Given the description of an element on the screen output the (x, y) to click on. 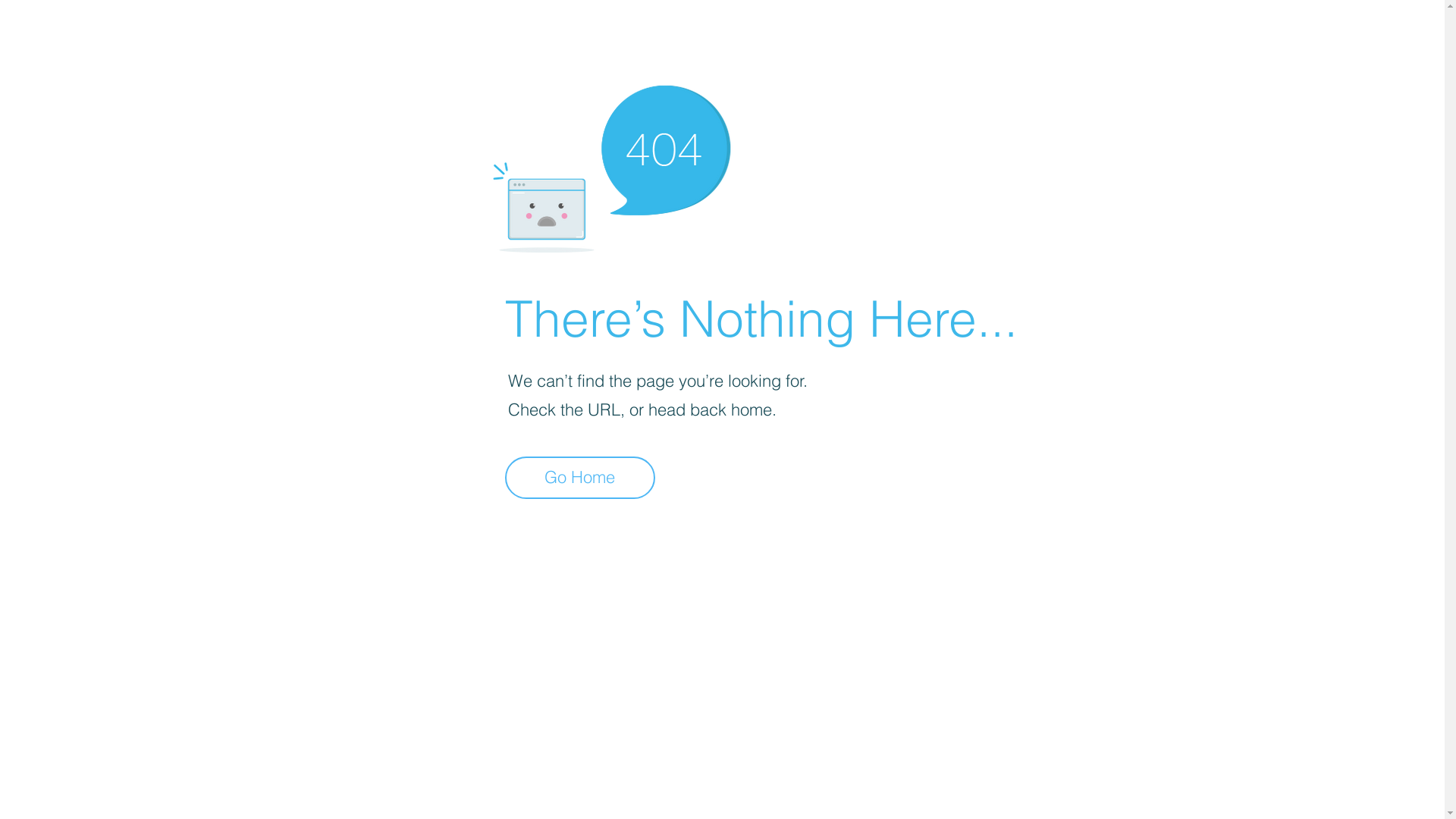
404-icon_2.png Element type: hover (610, 164)
Go Home Element type: text (580, 477)
